Given the description of an element on the screen output the (x, y) to click on. 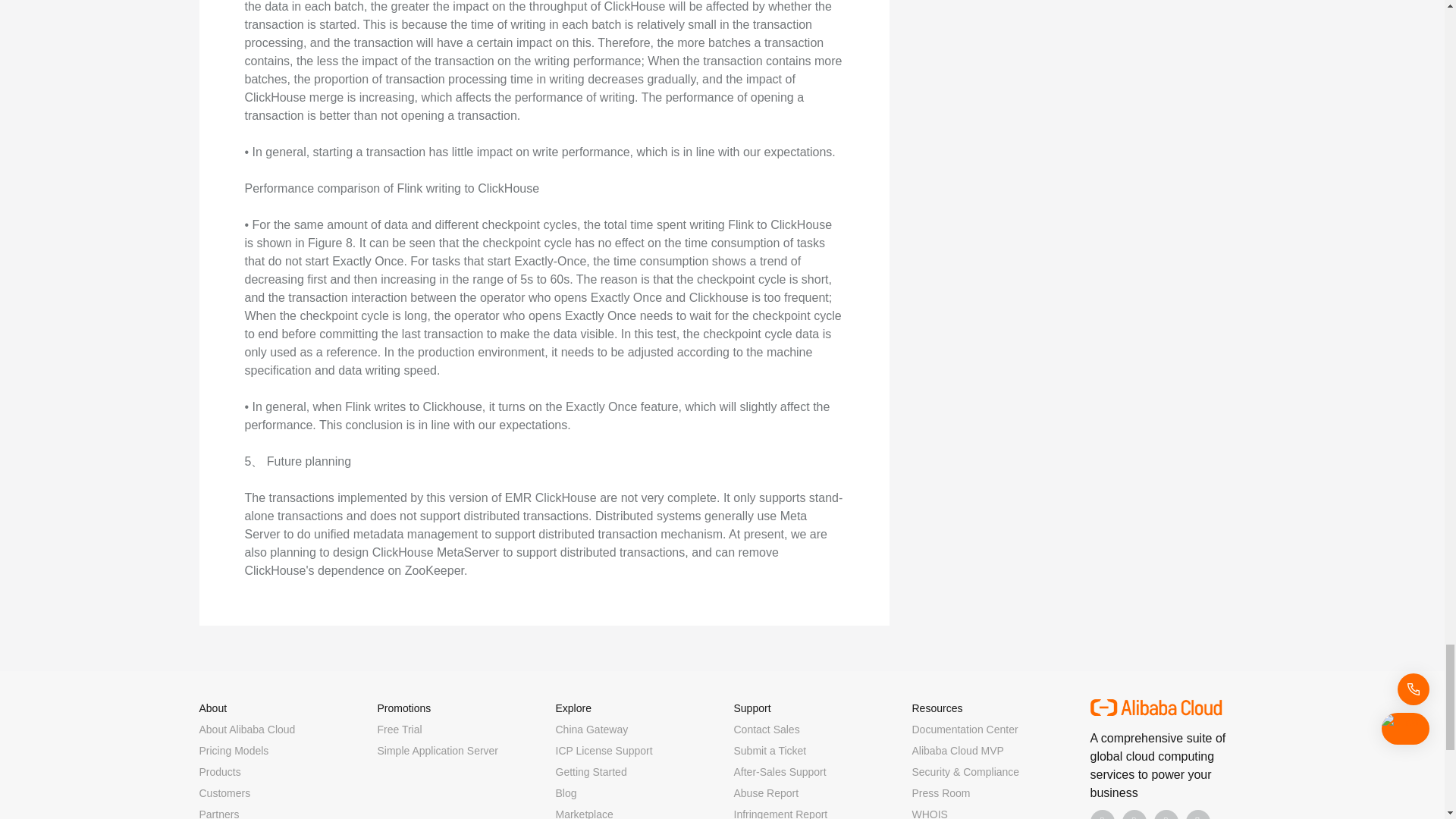
Linkedin (1134, 814)
Facebook (1102, 814)
YouTube (1197, 814)
Twitter (1165, 814)
